Given the description of an element on the screen output the (x, y) to click on. 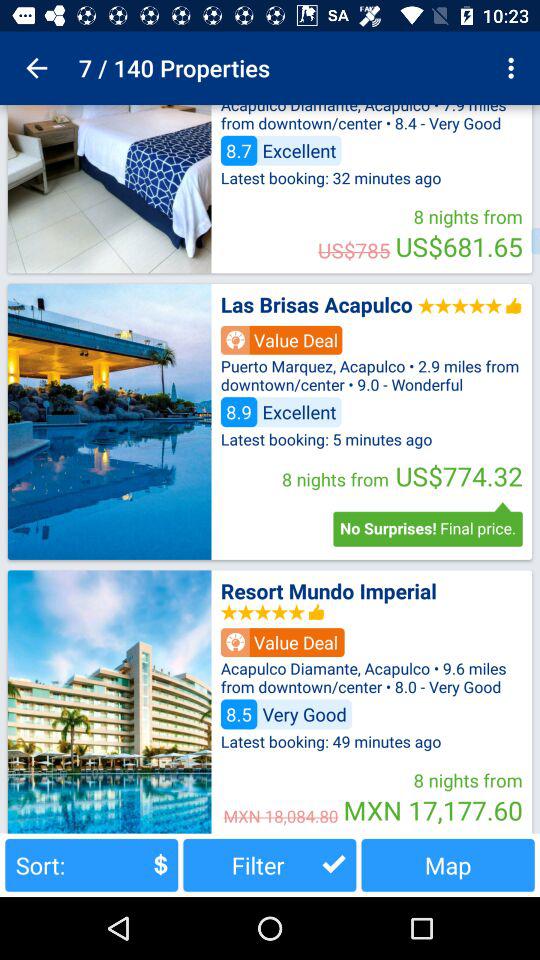
hotel thumbnail (109, 421)
